Given the description of an element on the screen output the (x, y) to click on. 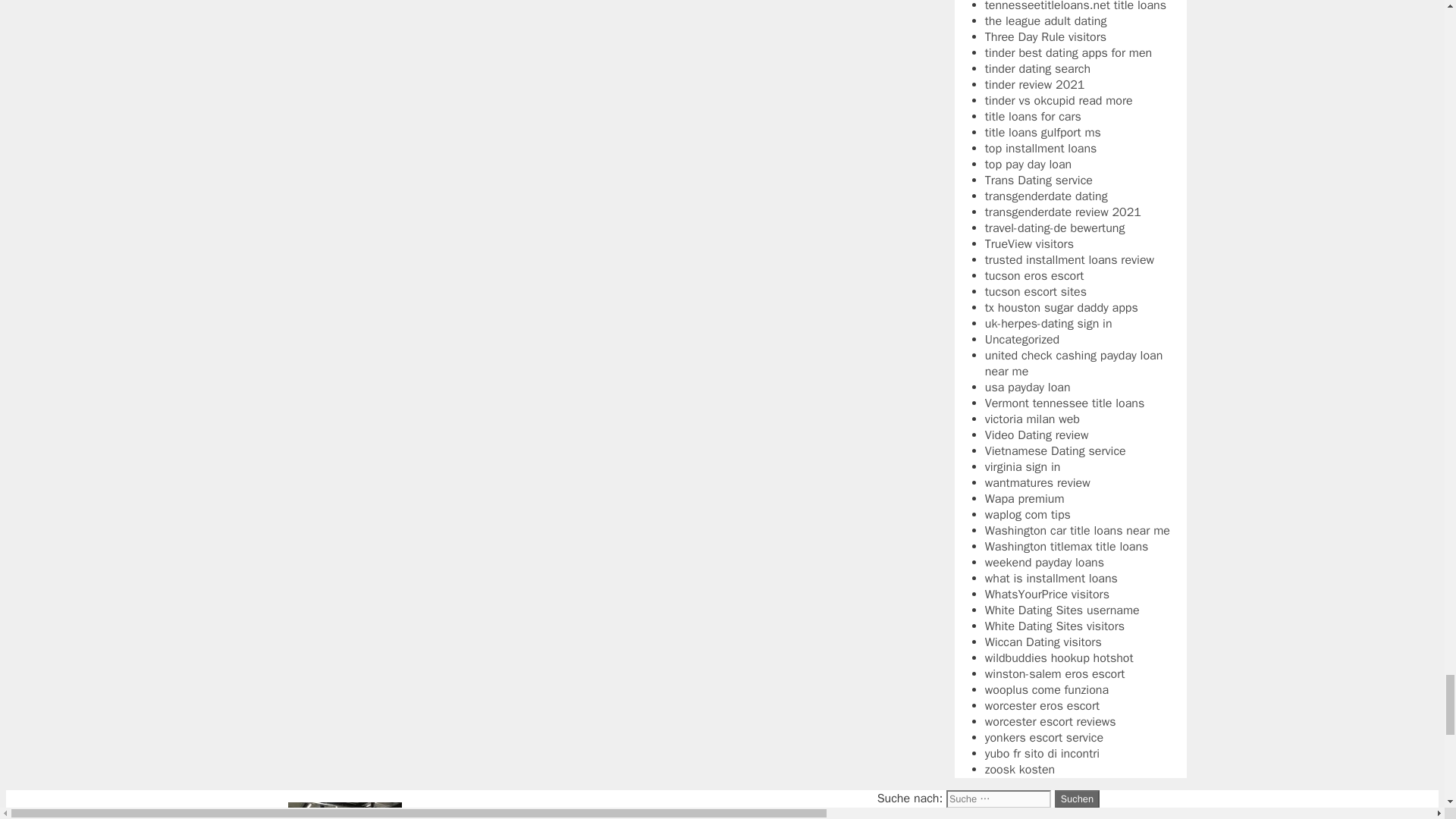
Suchen (1076, 799)
Suchen (1076, 799)
